Given the description of an element on the screen output the (x, y) to click on. 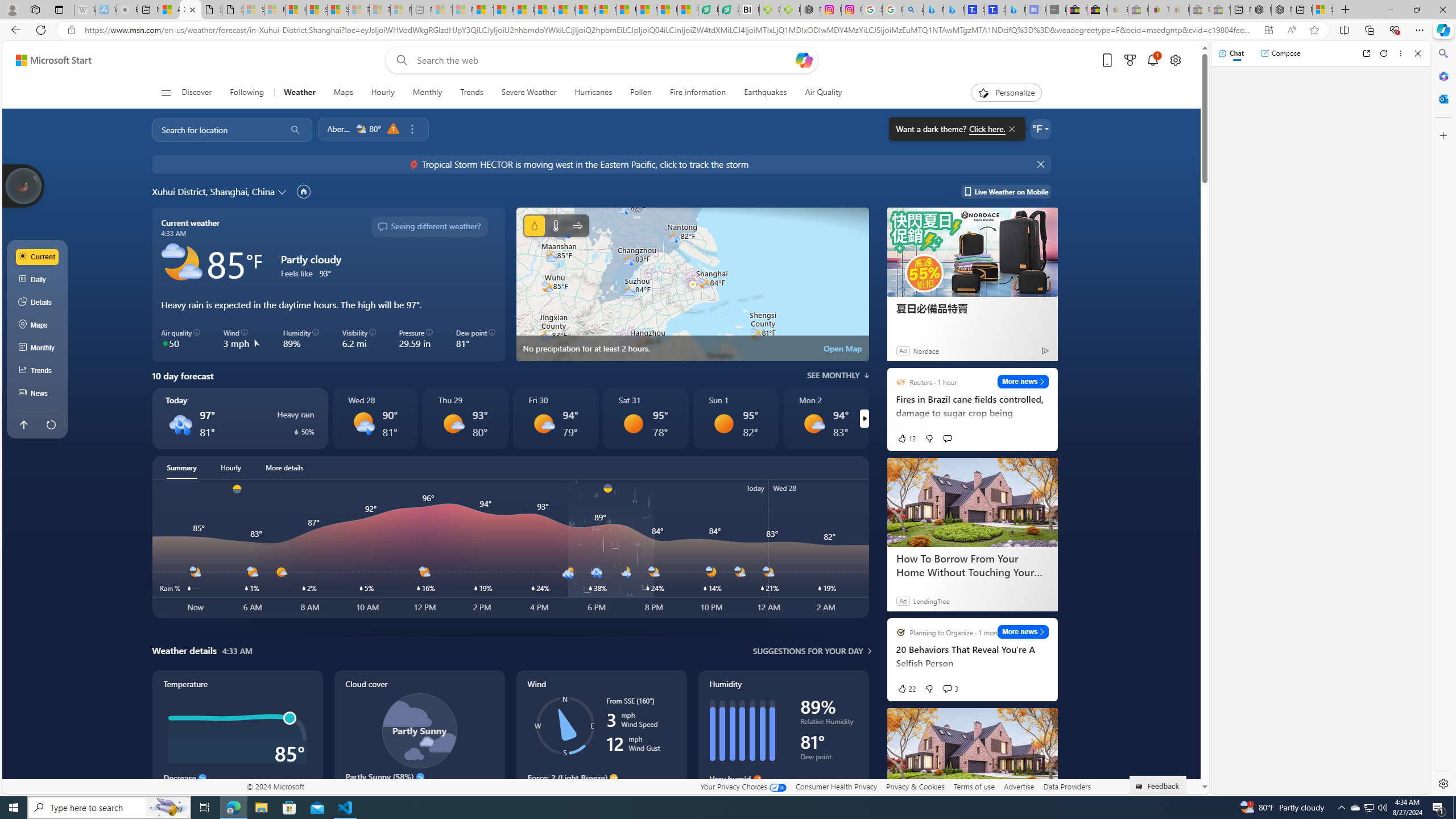
Severe Weather (529, 92)
Top Stories - MSN - Sleeping (441, 9)
Chat (1231, 52)
Humidity 89% (301, 338)
No precipitation for at least 2 hours (692, 284)
Hourly (230, 467)
Nordace (925, 350)
Drinking tea every day is proven to delay biological aging (544, 9)
Visibility 6.2 mi (358, 338)
More details (284, 467)
Privacy & Cookies (915, 785)
Wind (577, 225)
